Given the description of an element on the screen output the (x, y) to click on. 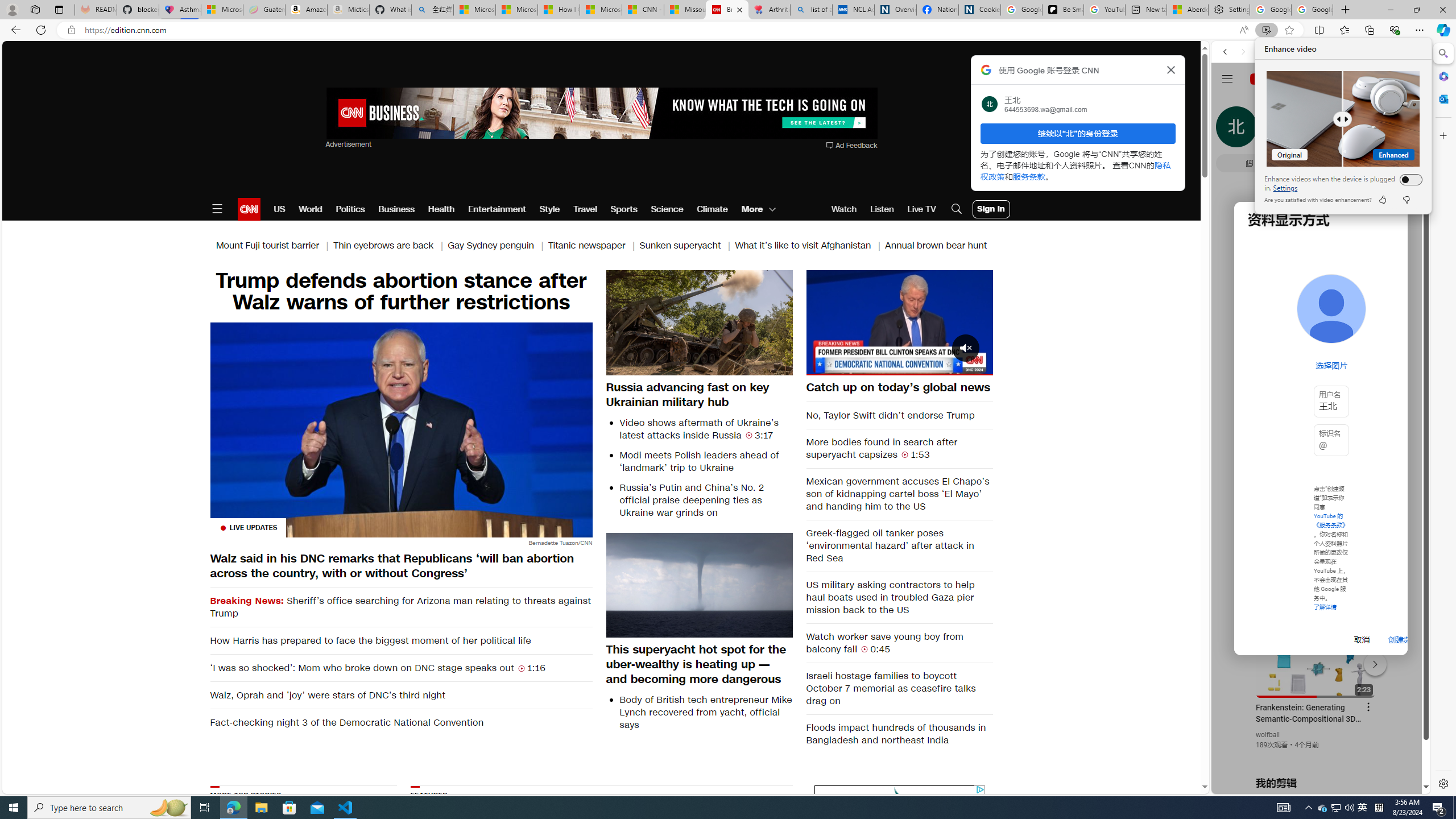
Watch worker save young boy from balcony fall 0:45 (899, 642)
AutomationID: brandFlyLogo (899, 794)
Options (952, 365)
Task View (204, 807)
Forward 10 seconds (933, 322)
More bodies found in search after superyacht capsizes 1:53 (899, 448)
